Given the description of an element on the screen output the (x, y) to click on. 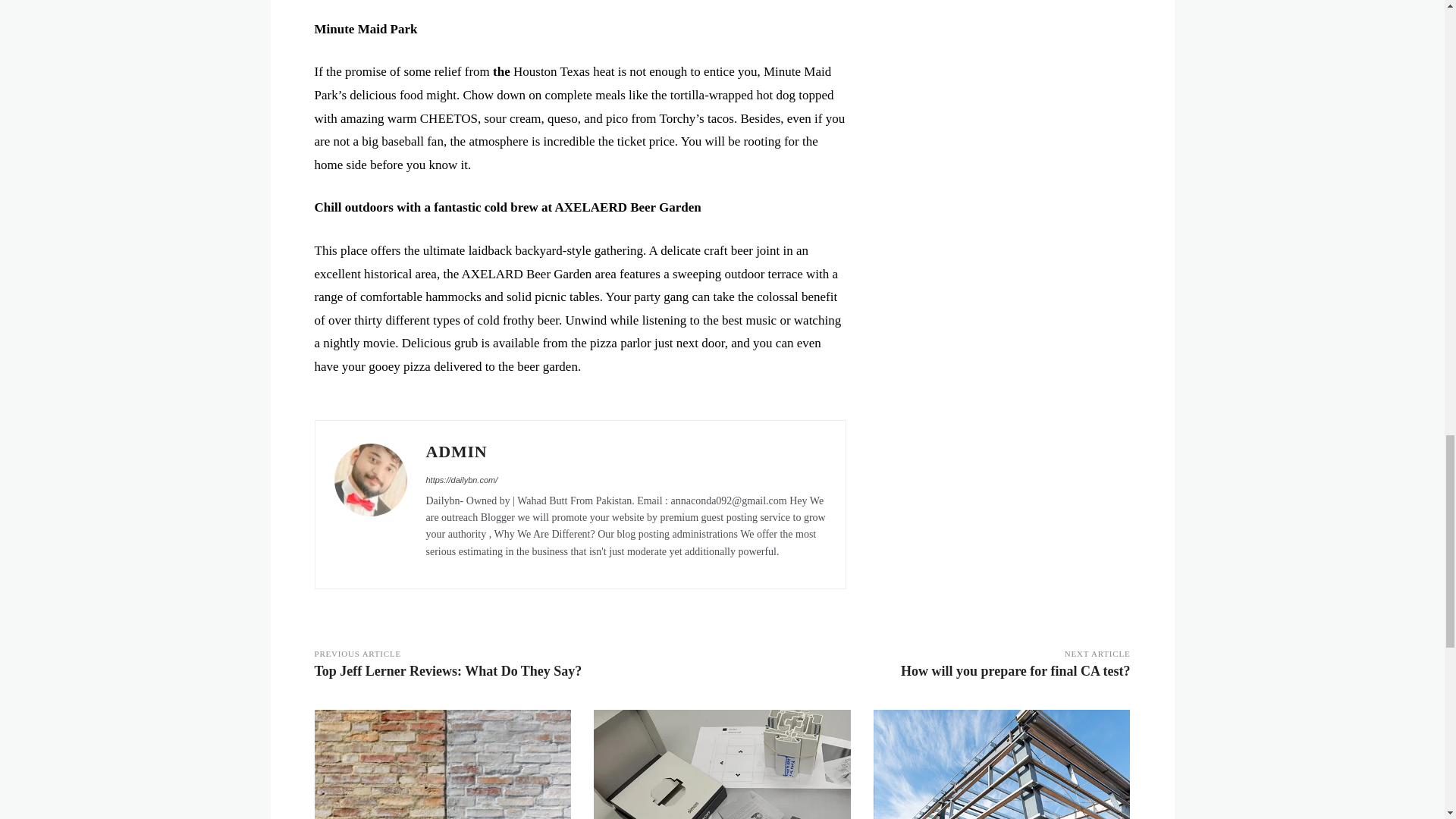
ADMIN (626, 451)
Chipperen: Understanding the Basics and Applications (442, 764)
